Given the description of an element on the screen output the (x, y) to click on. 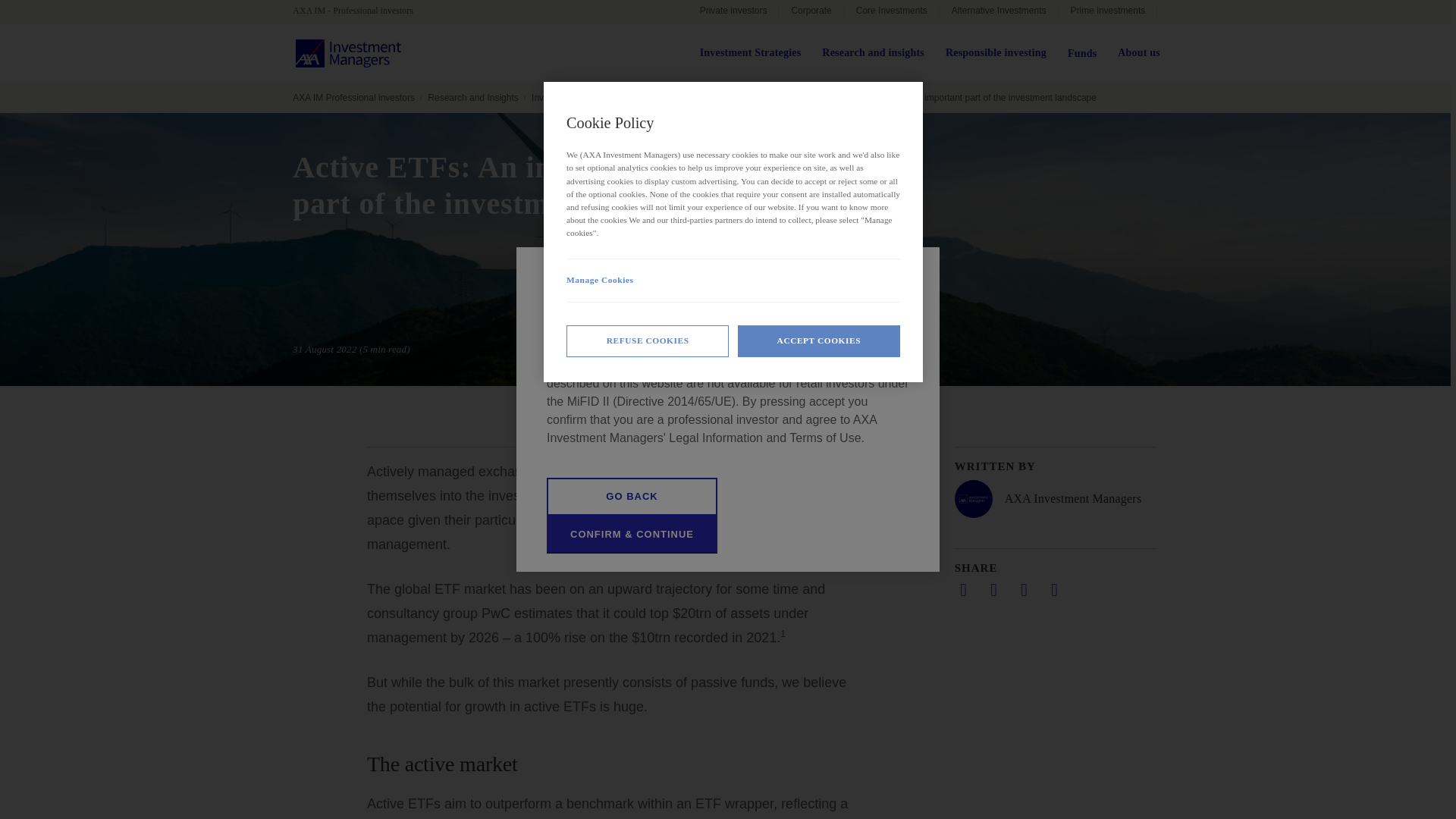
Copy URL (1054, 589)
Shared by mail (1023, 589)
Core Investments (891, 12)
AXA IM - Professional investors, Home (360, 10)
Private investors (732, 12)
Investment Strategies (751, 53)
Corporate (810, 12)
Alternative Investments (998, 12)
GO BACK (632, 496)
Research and insights (873, 53)
